Given the description of an element on the screen output the (x, y) to click on. 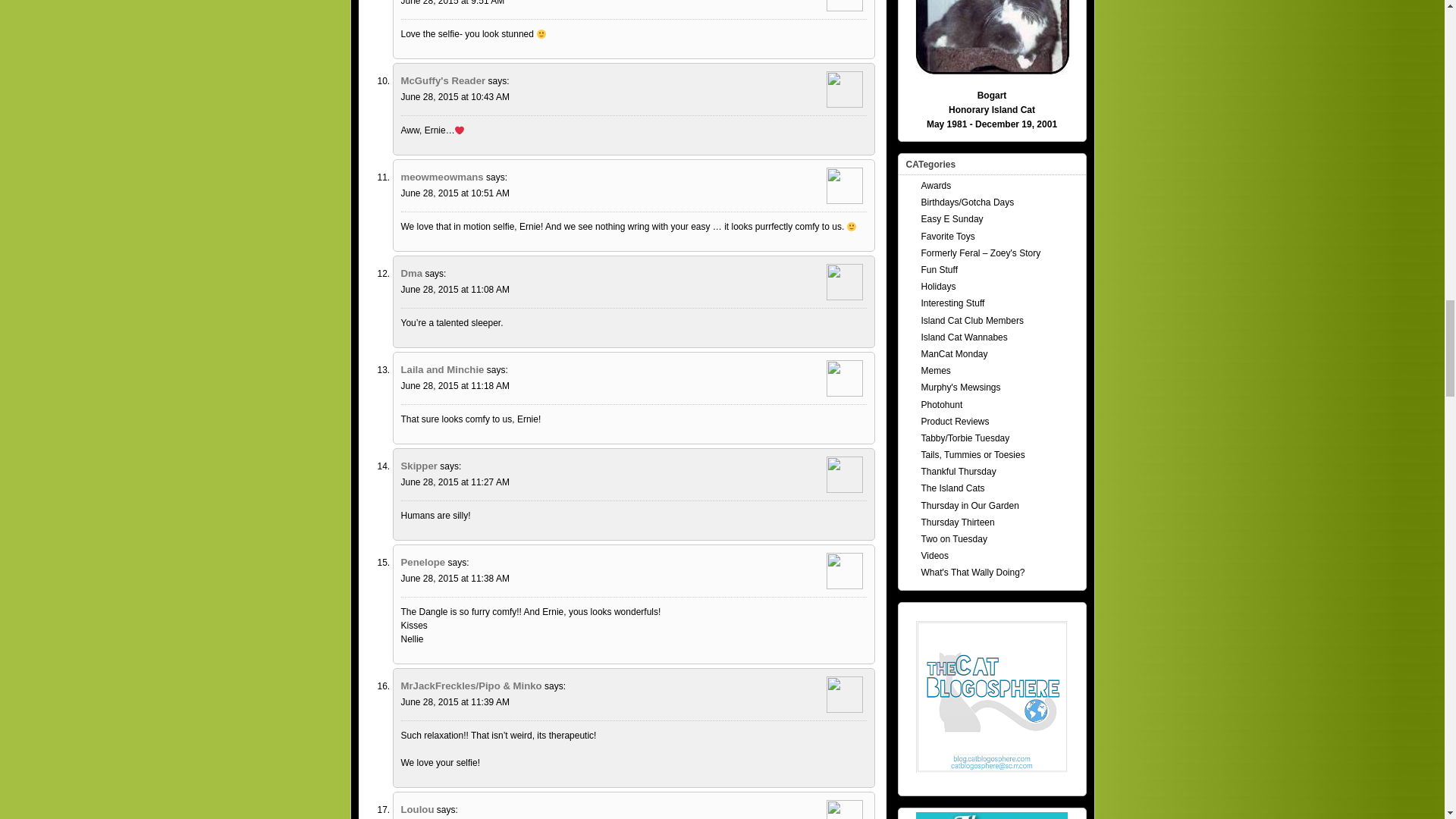
McGuffy's Reader (442, 80)
June 28, 2015 at 9:51 AM (451, 2)
